Given the description of an element on the screen output the (x, y) to click on. 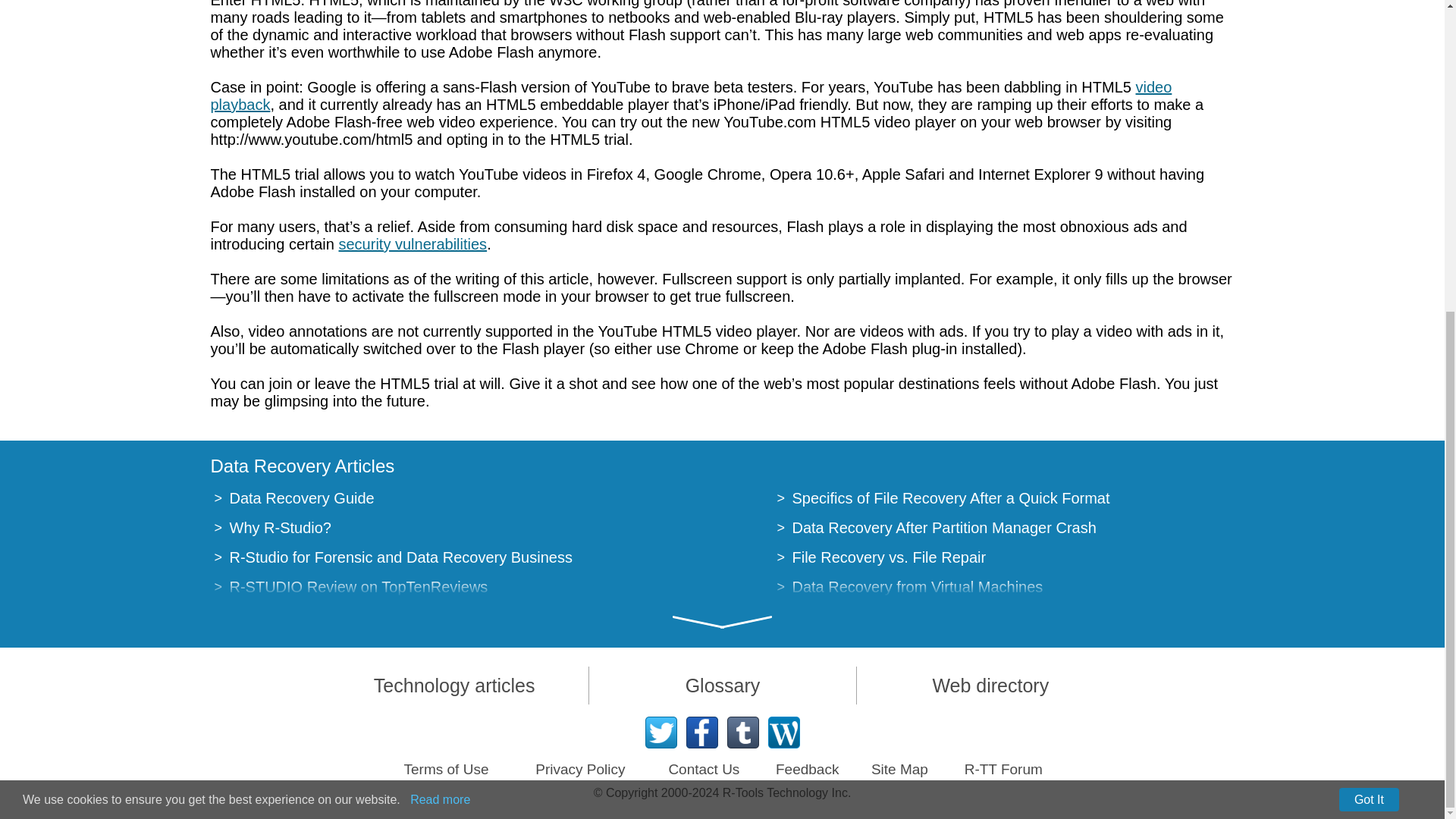
Wordpress (783, 732)
security vulnerabilities (411, 243)
Facebook (701, 732)
Twitter (661, 732)
Tumblr (742, 732)
video playback (691, 95)
